Given the description of an element on the screen output the (x, y) to click on. 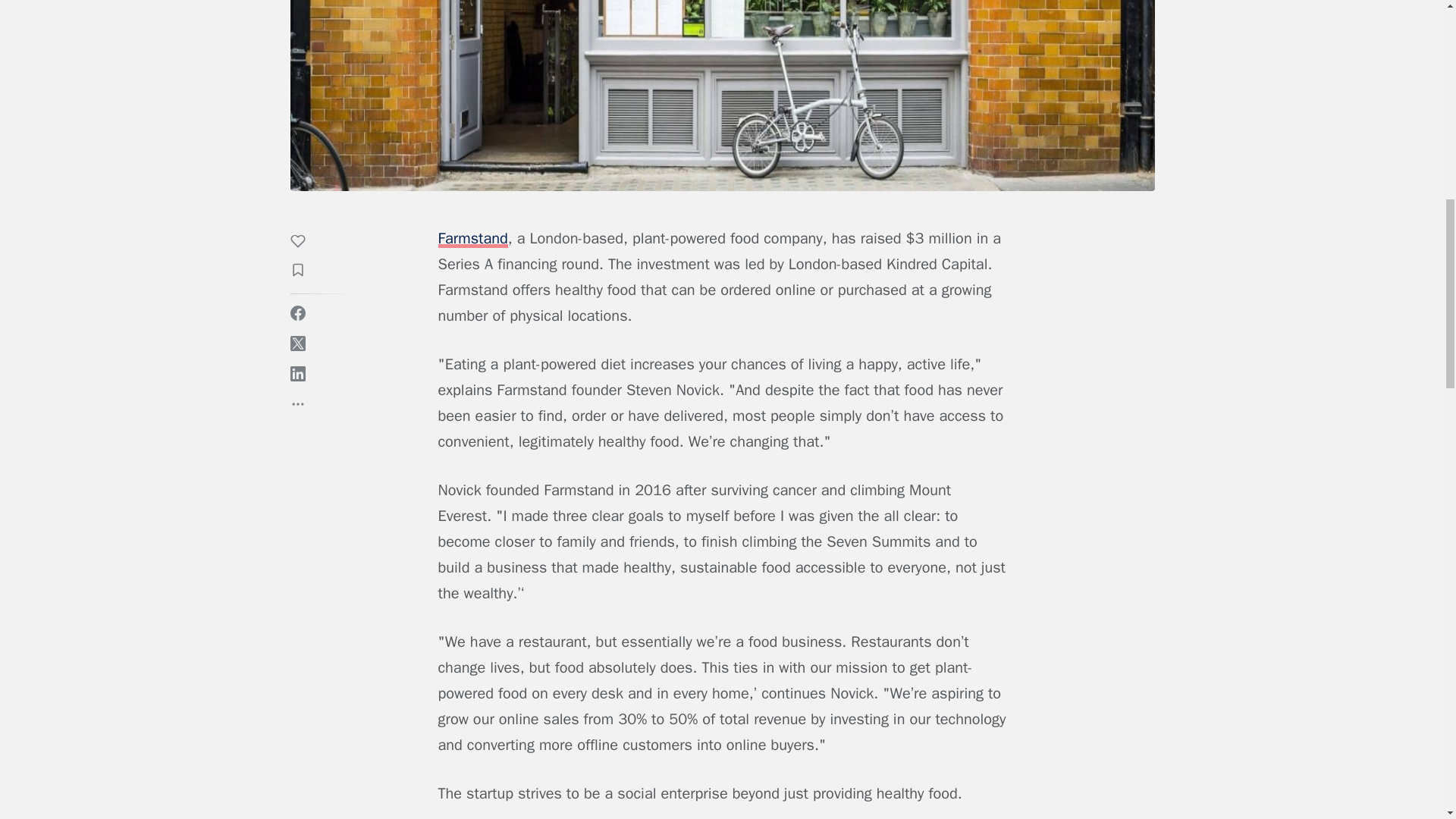
Like (304, 243)
Share on Twitter (296, 343)
Share on Linkedin (296, 373)
Add to collection (304, 271)
Share on Facebook (296, 313)
